Given the description of an element on the screen output the (x, y) to click on. 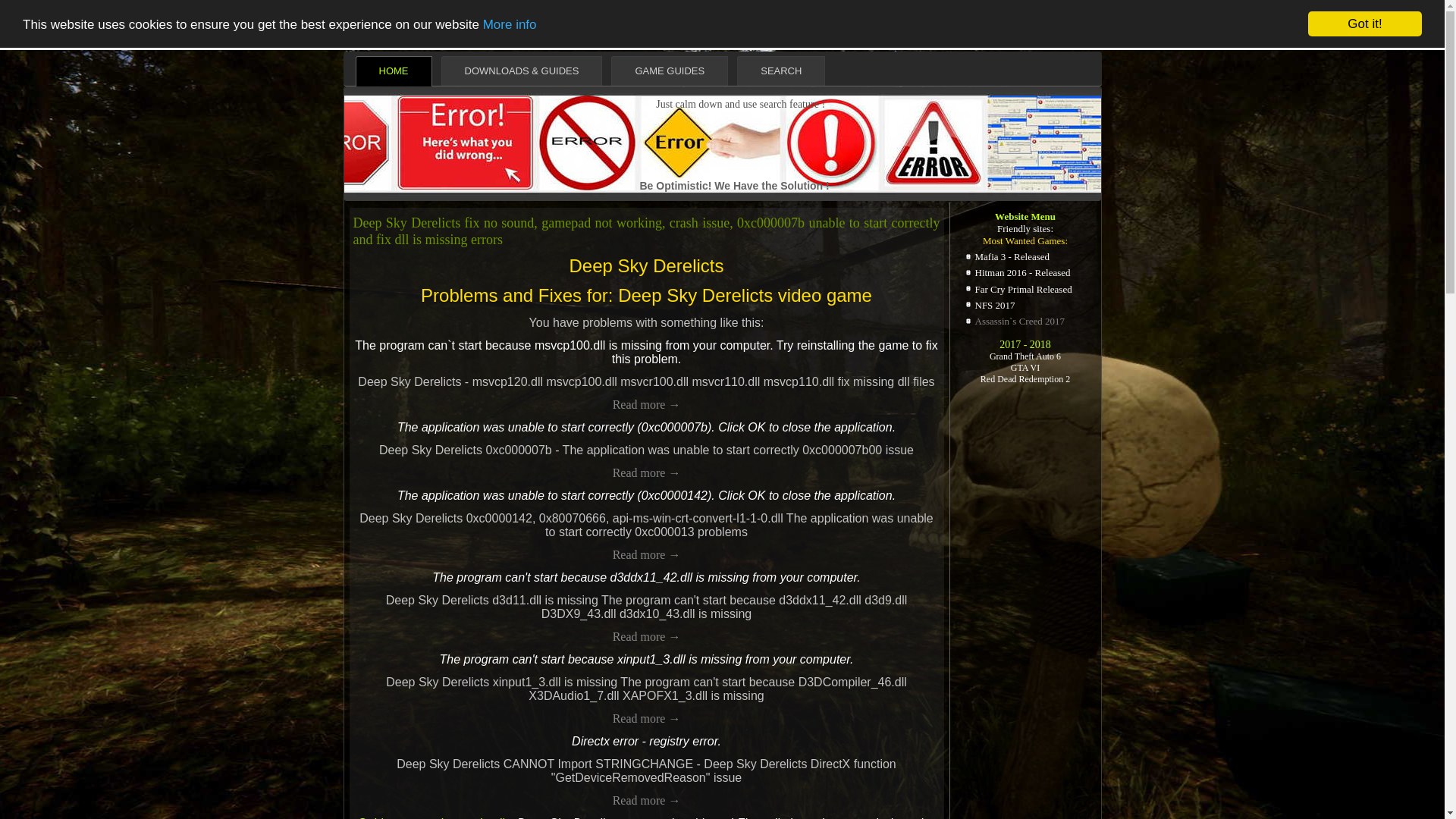
SEARCH (780, 70)
Be Optimistic! We Have the Solution ! (734, 185)
HOME (392, 57)
GAME GUIDES (669, 70)
